Given the description of an element on the screen output the (x, y) to click on. 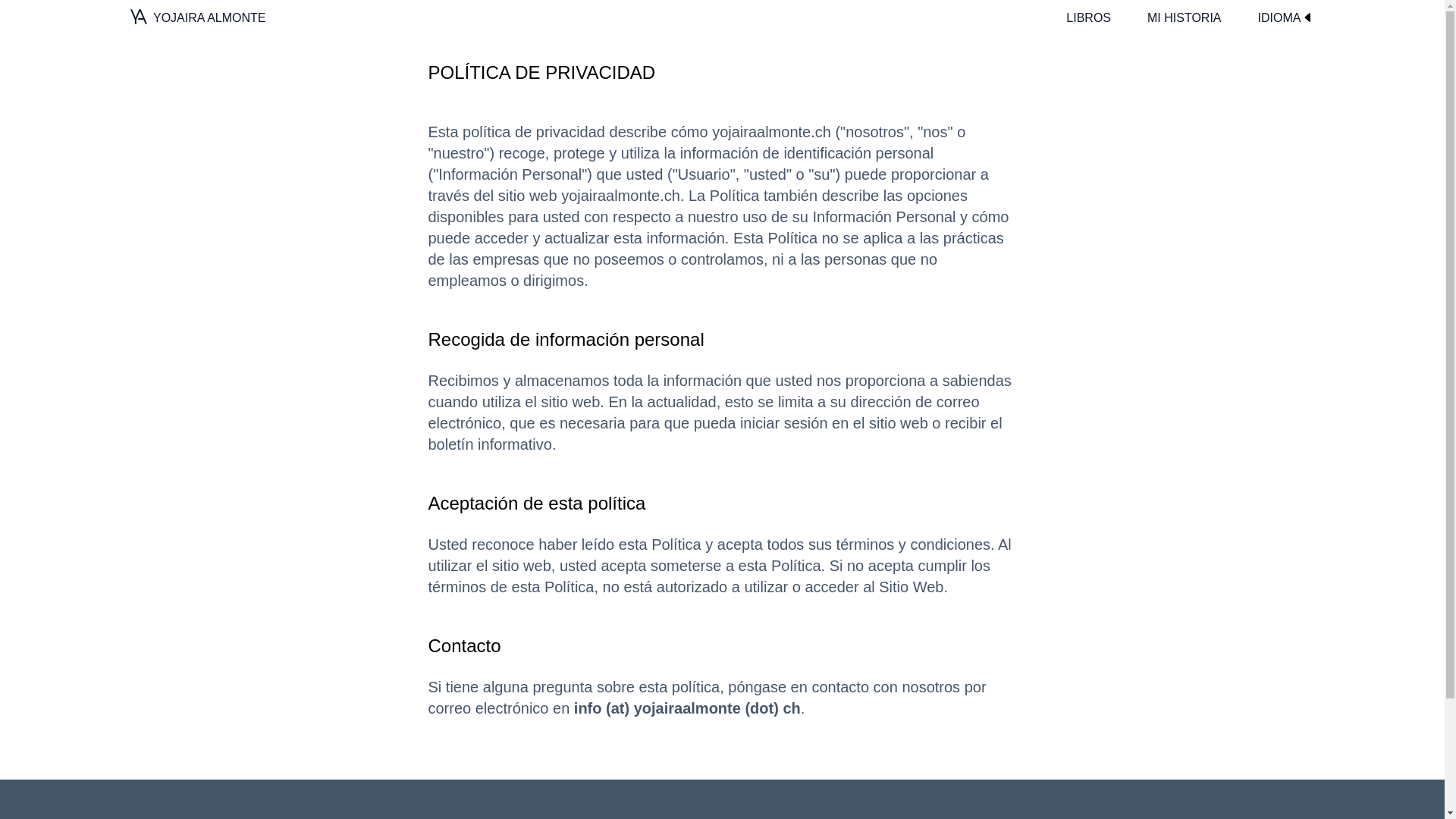
YOJAIRA ALMONTE (197, 18)
IDIOMA (1286, 18)
LIBROS (1088, 18)
MI HISTORIA (1184, 18)
